Given the description of an element on the screen output the (x, y) to click on. 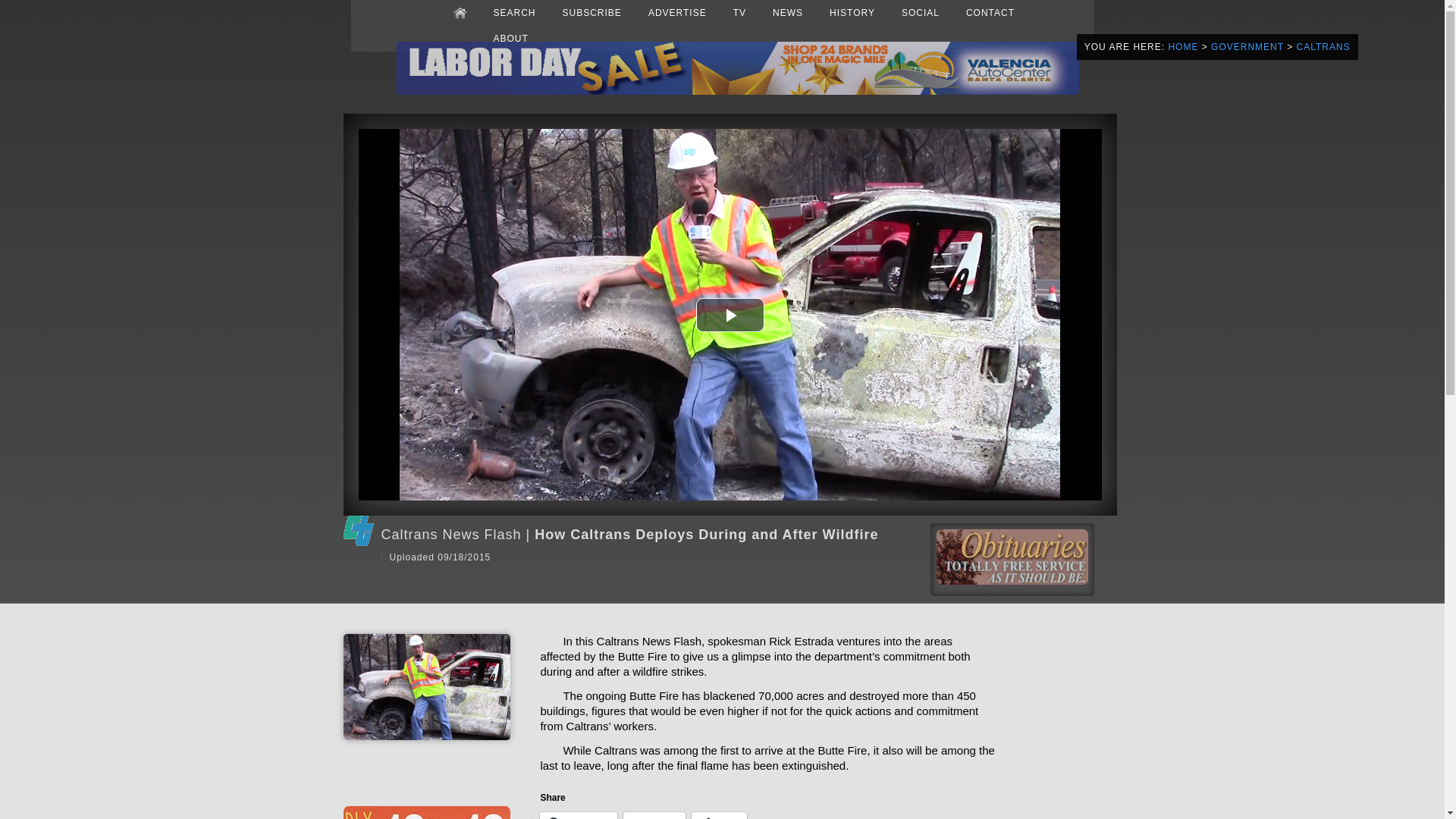
Auto Mall (737, 91)
SUBSCRIBE (591, 12)
Play Video (729, 314)
SEARCH (513, 12)
How Caltrans Deploys During and After Wildfire (425, 737)
TV (739, 12)
Click to share on Facebook (577, 815)
Click to share on Twitter (654, 815)
NEWS (787, 12)
ADVERTISE (677, 12)
